Given the description of an element on the screen output the (x, y) to click on. 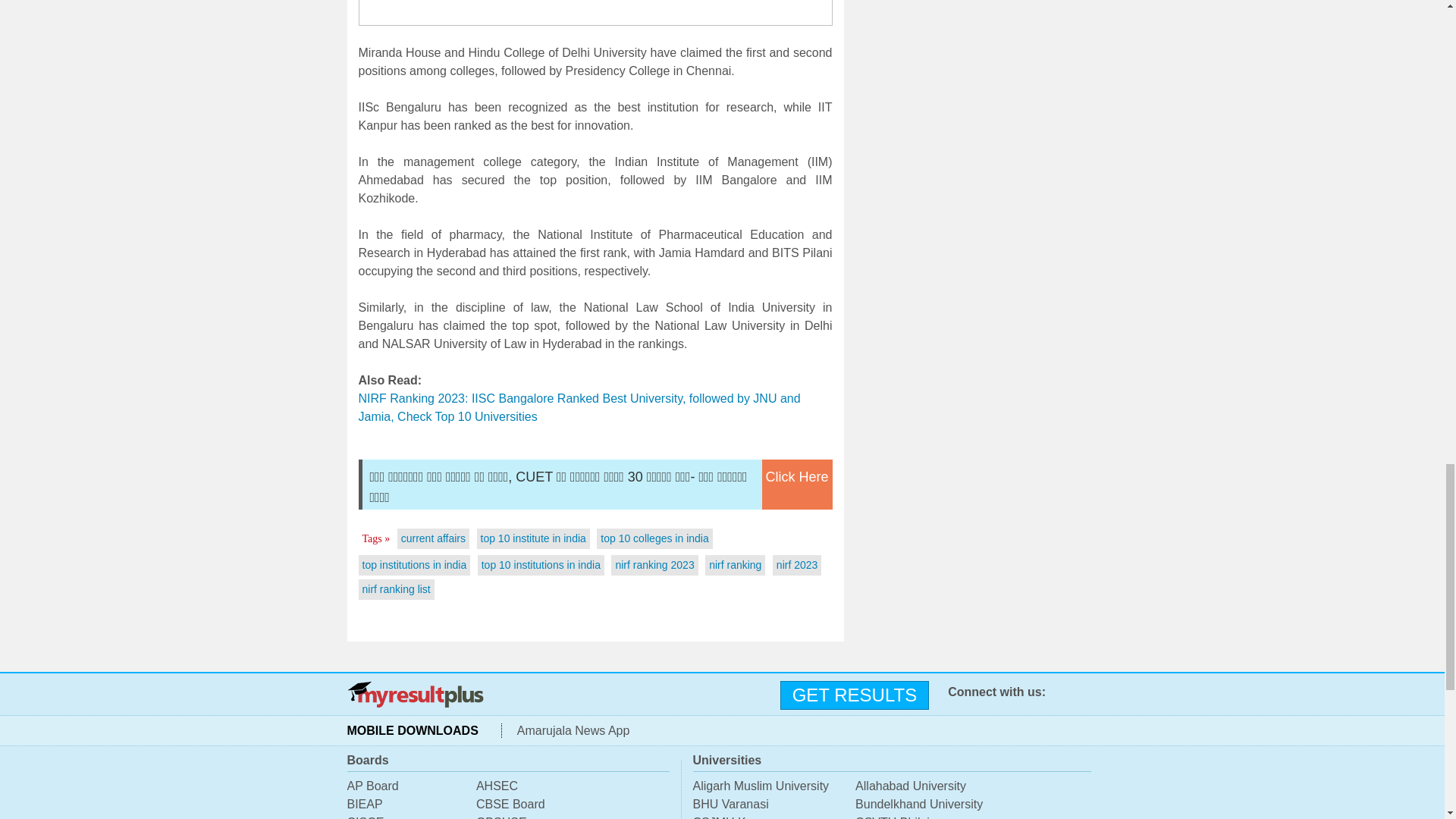
top 10 institute in india (533, 538)
current affairs (433, 538)
nirf ranking 2023 (654, 564)
top institutions in india (414, 564)
top 10 colleges in india (653, 538)
top 10 institutions in india (540, 564)
